Given the description of an element on the screen output the (x, y) to click on. 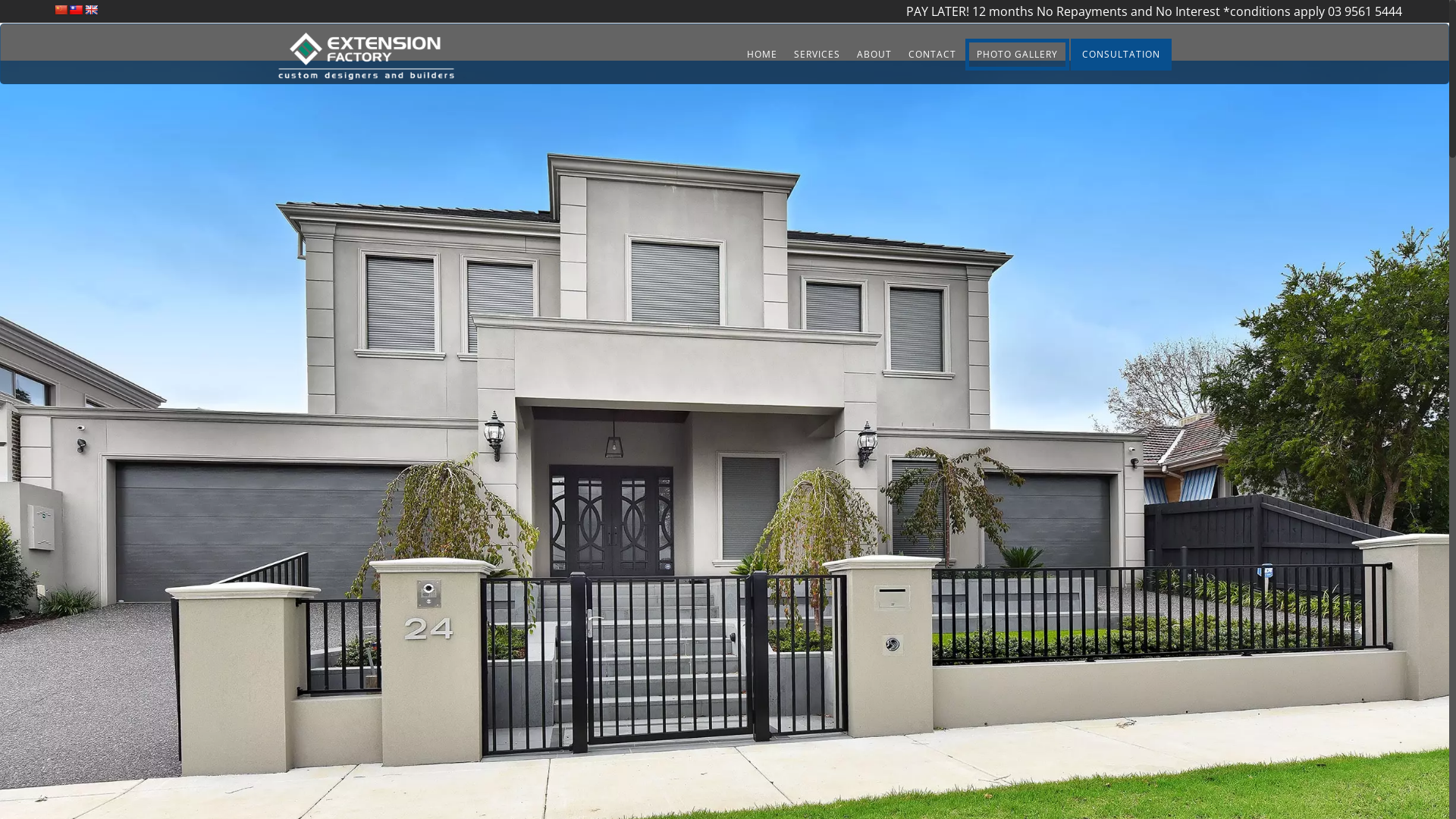
HOME Element type: text (761, 54)
Chinese (Traditional) Element type: hover (75, 9)
SERVICES Element type: text (816, 54)
ABOUT Element type: text (873, 54)
03 9561 5444 Element type: text (1364, 11)
Chinese (Simplified) Element type: hover (60, 9)
CONSULTATION Element type: text (1120, 54)
PHOTO GALLERY Element type: text (1017, 54)
English Element type: hover (90, 9)
CONTACT Element type: text (931, 54)
